Given the description of an element on the screen output the (x, y) to click on. 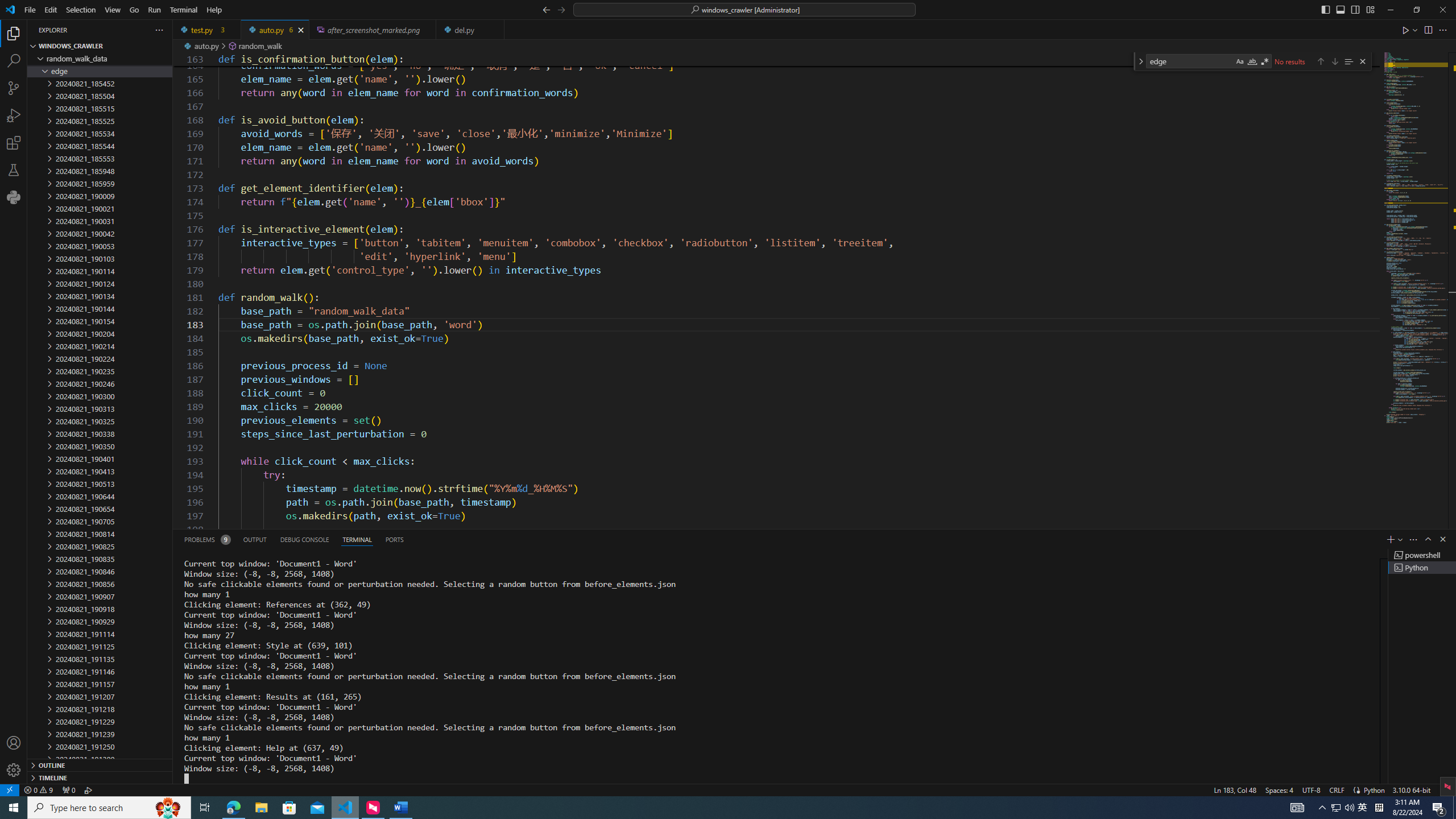
Output (Ctrl+Shift+U) (254, 539)
Title actions (1347, 9)
Customize Layout... (1369, 9)
Use Regular Expression (Alt+R) (1265, 61)
Run or Debug... (1414, 29)
Maximize Panel Size (1428, 539)
Explorer actions (118, 29)
Run Python File (1405, 29)
Extensions (Ctrl+Shift+X) (13, 142)
Selection (80, 9)
Toggle Panel (Ctrl+J) (1339, 9)
Go Back (Alt+LeftArrow) (546, 9)
remote (9, 789)
Terminal (Ctrl+`) (356, 539)
